Given the description of an element on the screen output the (x, y) to click on. 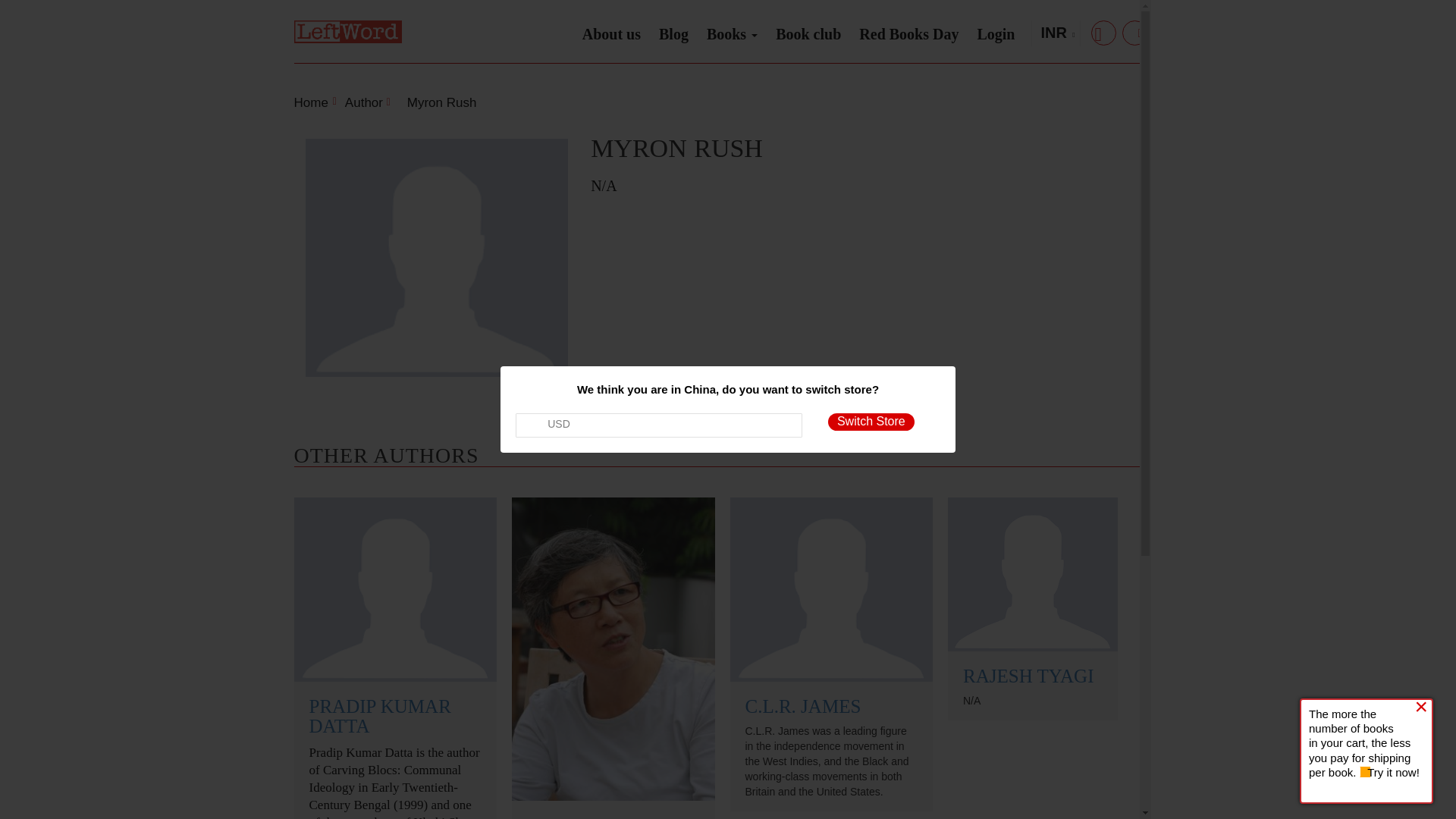
About us (611, 34)
C.L.R. JAMES (802, 706)
Go to Author Home Page (366, 102)
Book club (808, 34)
PRADIP KUMAR DATTA (379, 716)
Blog (673, 34)
Author (366, 102)
Go to Home Page (311, 102)
Books (732, 31)
WANG CHAOHUA (604, 816)
Home (311, 102)
